Given the description of an element on the screen output the (x, y) to click on. 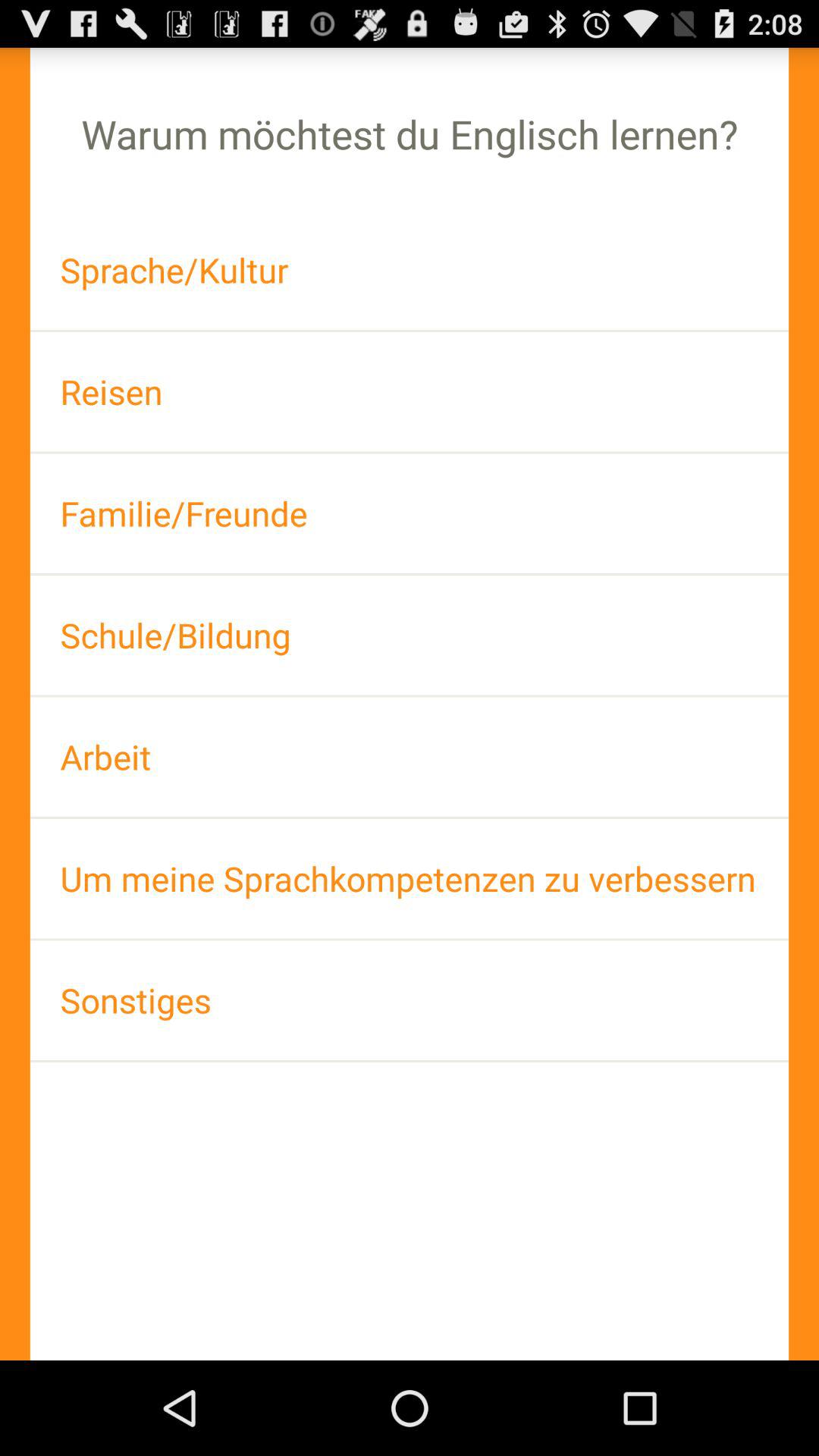
click the item at the bottom (409, 1000)
